Given the description of an element on the screen output the (x, y) to click on. 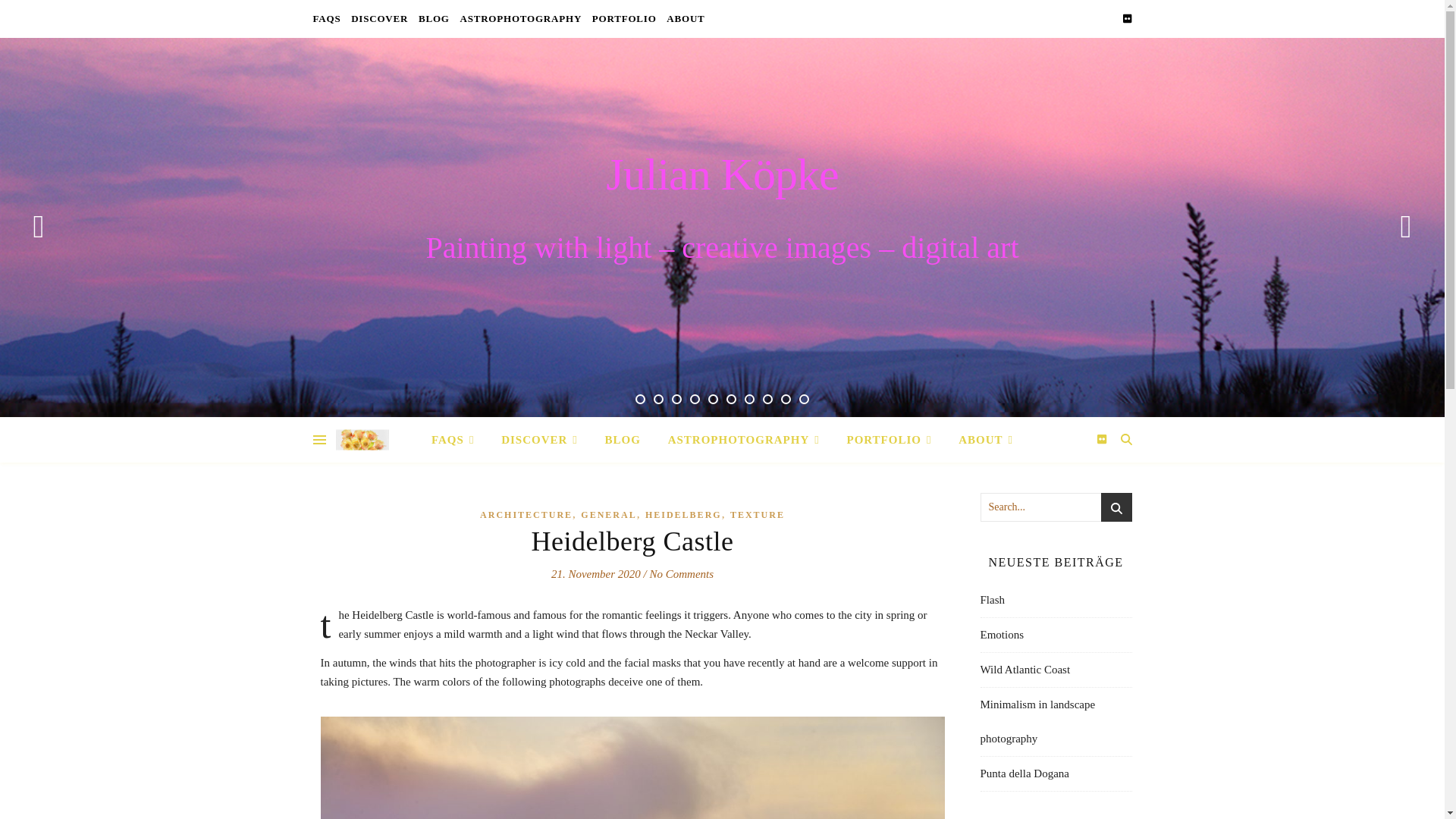
ASTROPHOTOGRAPHY (520, 18)
DISCOVER (379, 18)
PORTFOLIO (624, 18)
BLOG (433, 18)
